Given the description of an element on the screen output the (x, y) to click on. 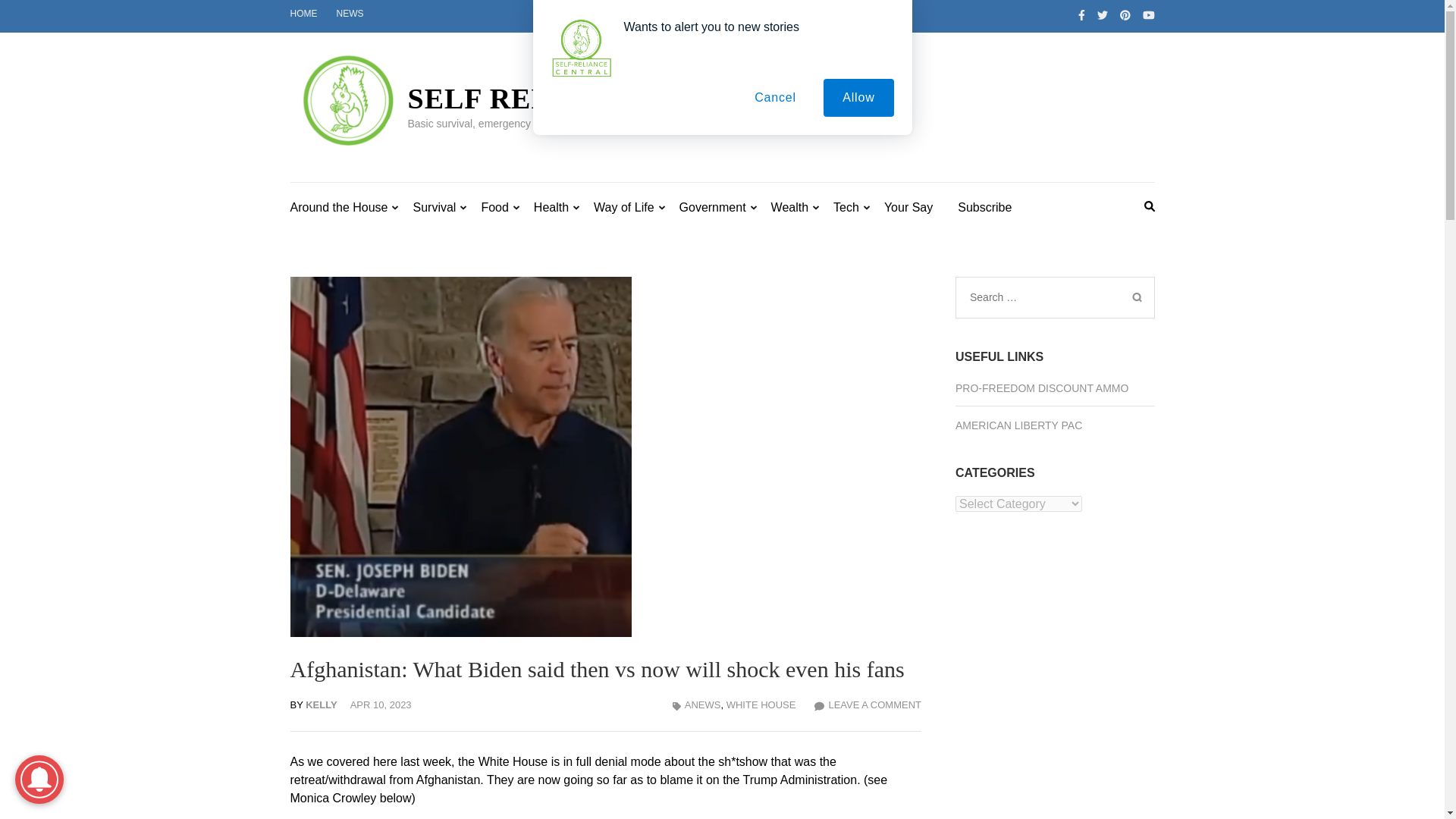
Search (1136, 297)
Search (1136, 297)
Youtube (1148, 15)
